Given the description of an element on the screen output the (x, y) to click on. 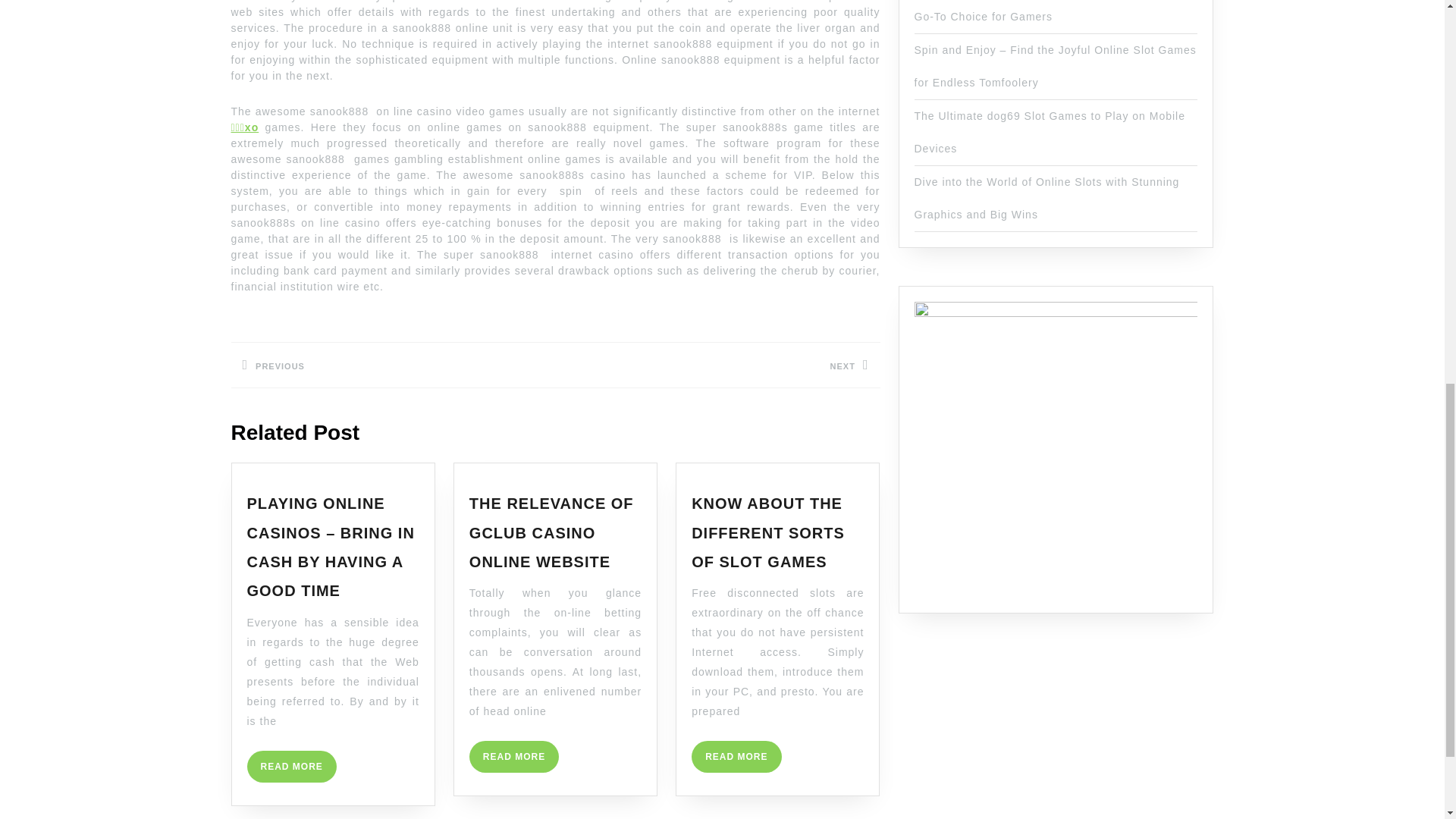
Know About the Different Sorts of Slot Games (767, 532)
The Ultimate dog69 Slot Games to Play on Mobile Devices (1050, 131)
The Relevance of Gclub Casino Online Website (735, 757)
